Given the description of an element on the screen output the (x, y) to click on. 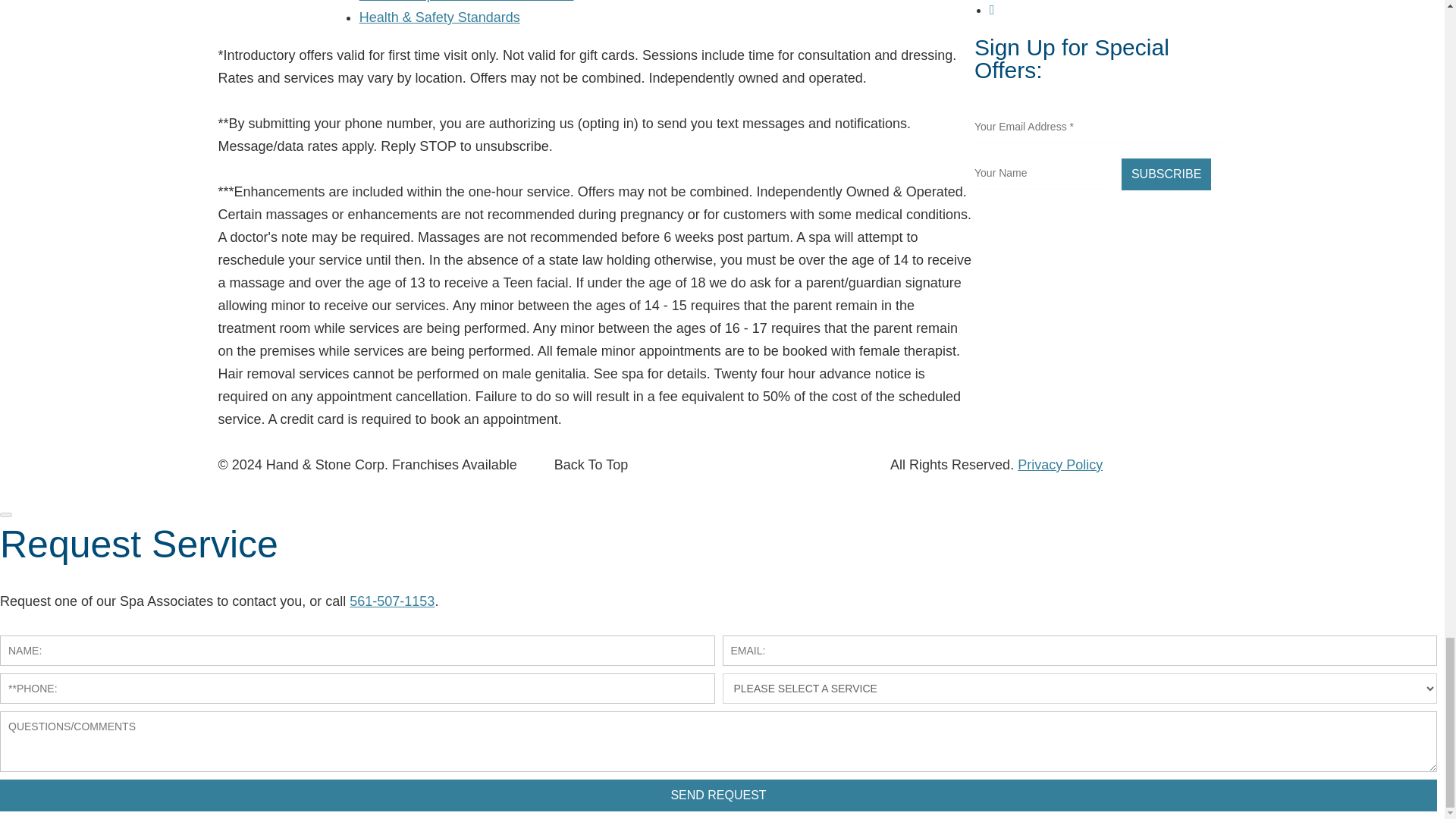
Back To Top (590, 464)
Subscribe (1166, 174)
